Given the description of an element on the screen output the (x, y) to click on. 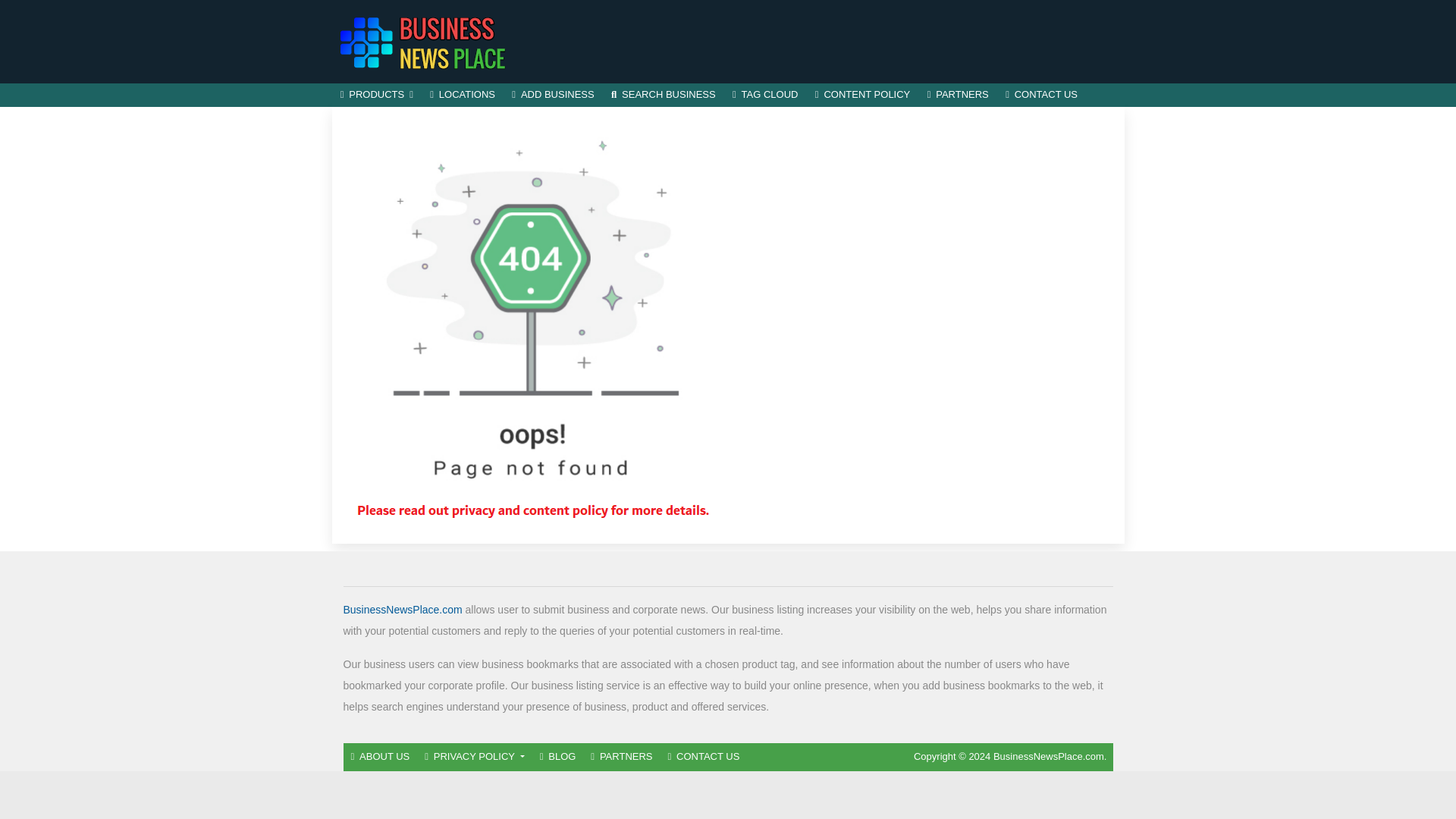
LOCATIONS (462, 95)
CONTENT POLICY (862, 95)
PARTNERS (957, 95)
BusinessNewsPlace.com (401, 609)
TAG CLOUD (764, 95)
SEARCH BUSINESS (662, 95)
CONTACT US (1041, 95)
ADD BUSINESS (552, 95)
PRODUCTS (376, 95)
